Given the description of an element on the screen output the (x, y) to click on. 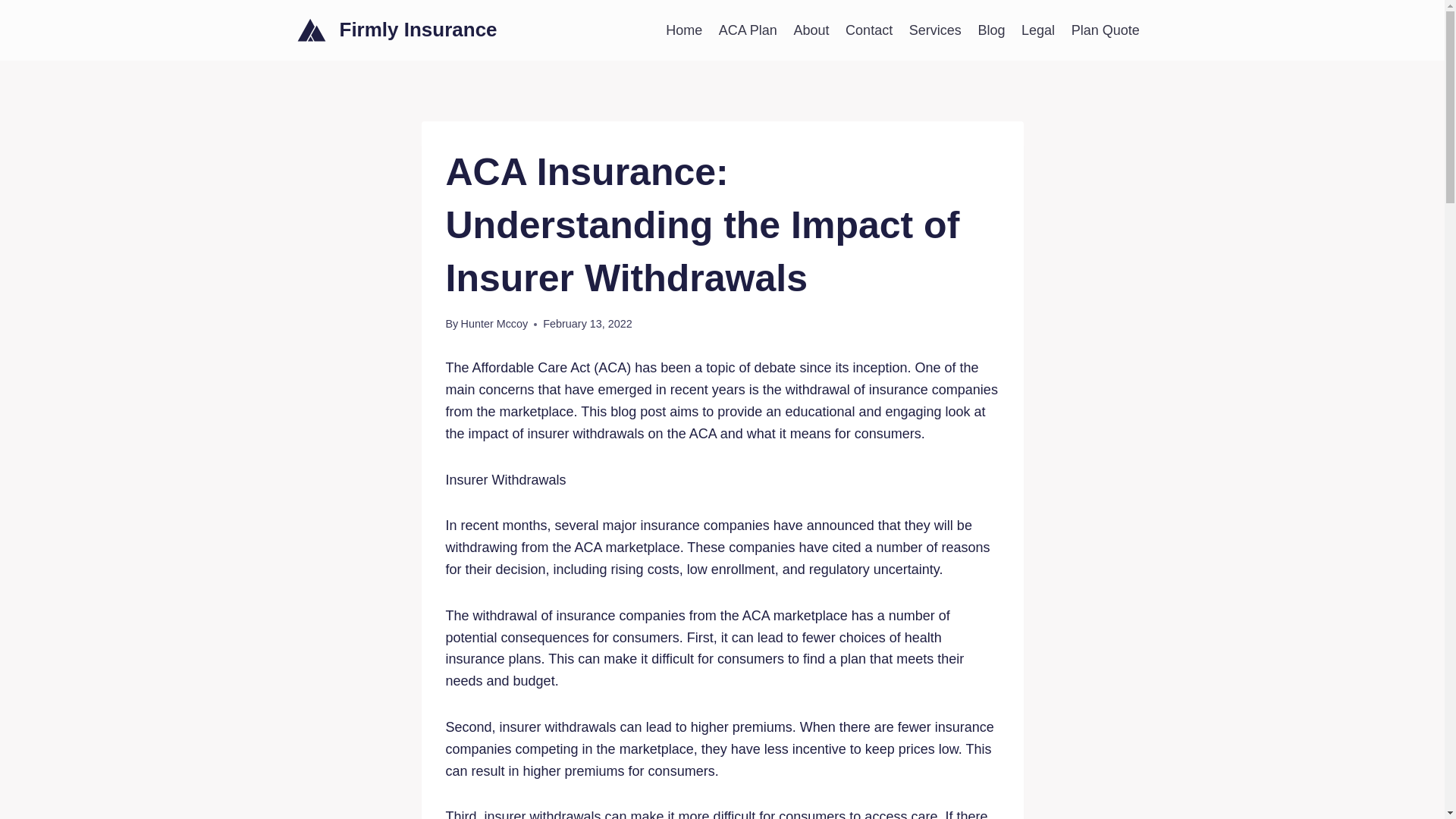
Hunter Mccoy (493, 323)
Home (684, 29)
Firmly Insurance (397, 29)
Services (935, 29)
Contact (869, 29)
Legal (1037, 29)
Blog (991, 29)
About (812, 29)
ACA Plan (748, 29)
Plan Quote (1105, 29)
